Given the description of an element on the screen output the (x, y) to click on. 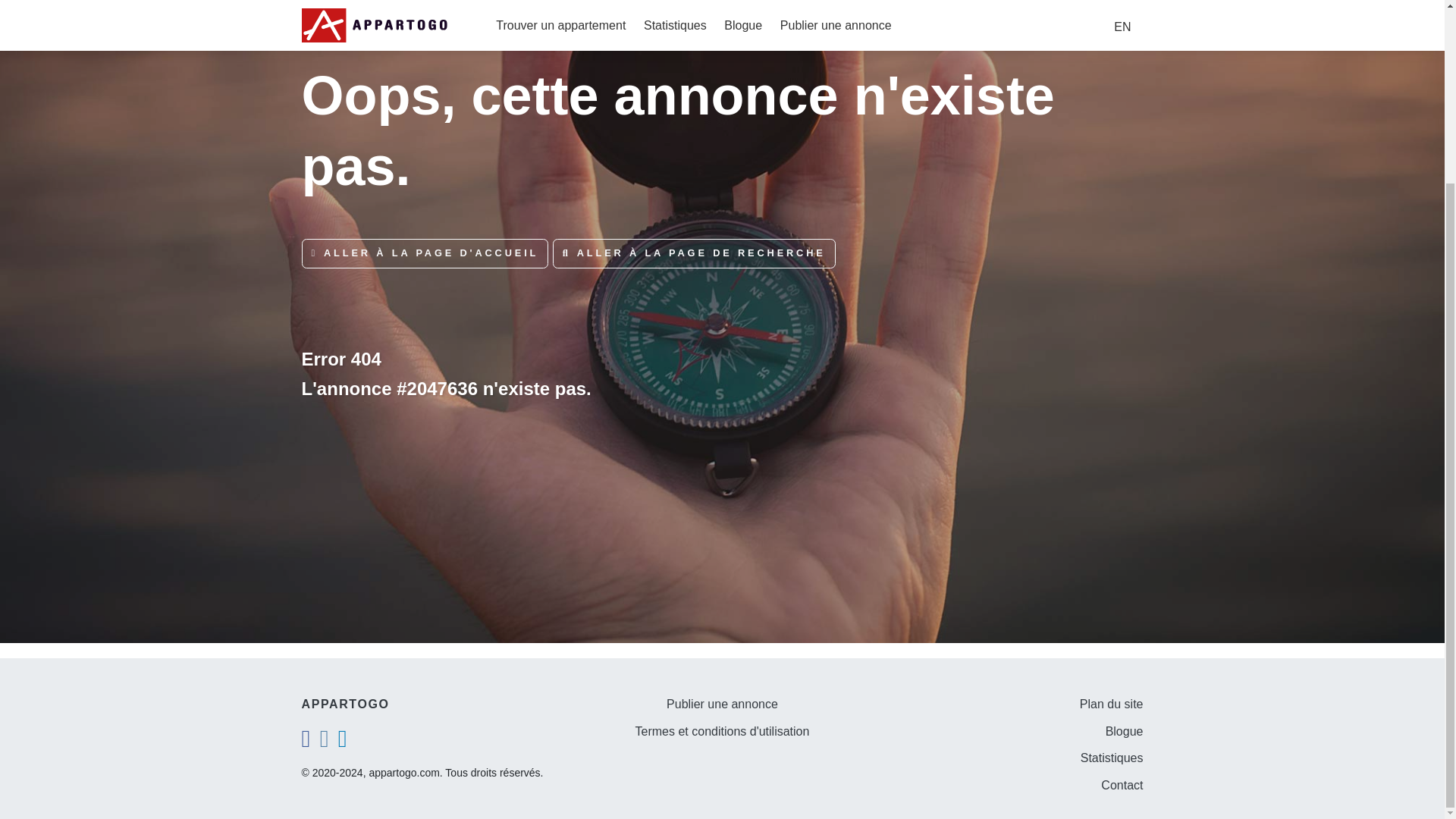
Plan du site (1111, 703)
Publier une annonce (721, 703)
Contact (1121, 784)
Statistiques (1111, 757)
Termes et conditions d'utilisation (721, 730)
Blogue (1123, 730)
